Given the description of an element on the screen output the (x, y) to click on. 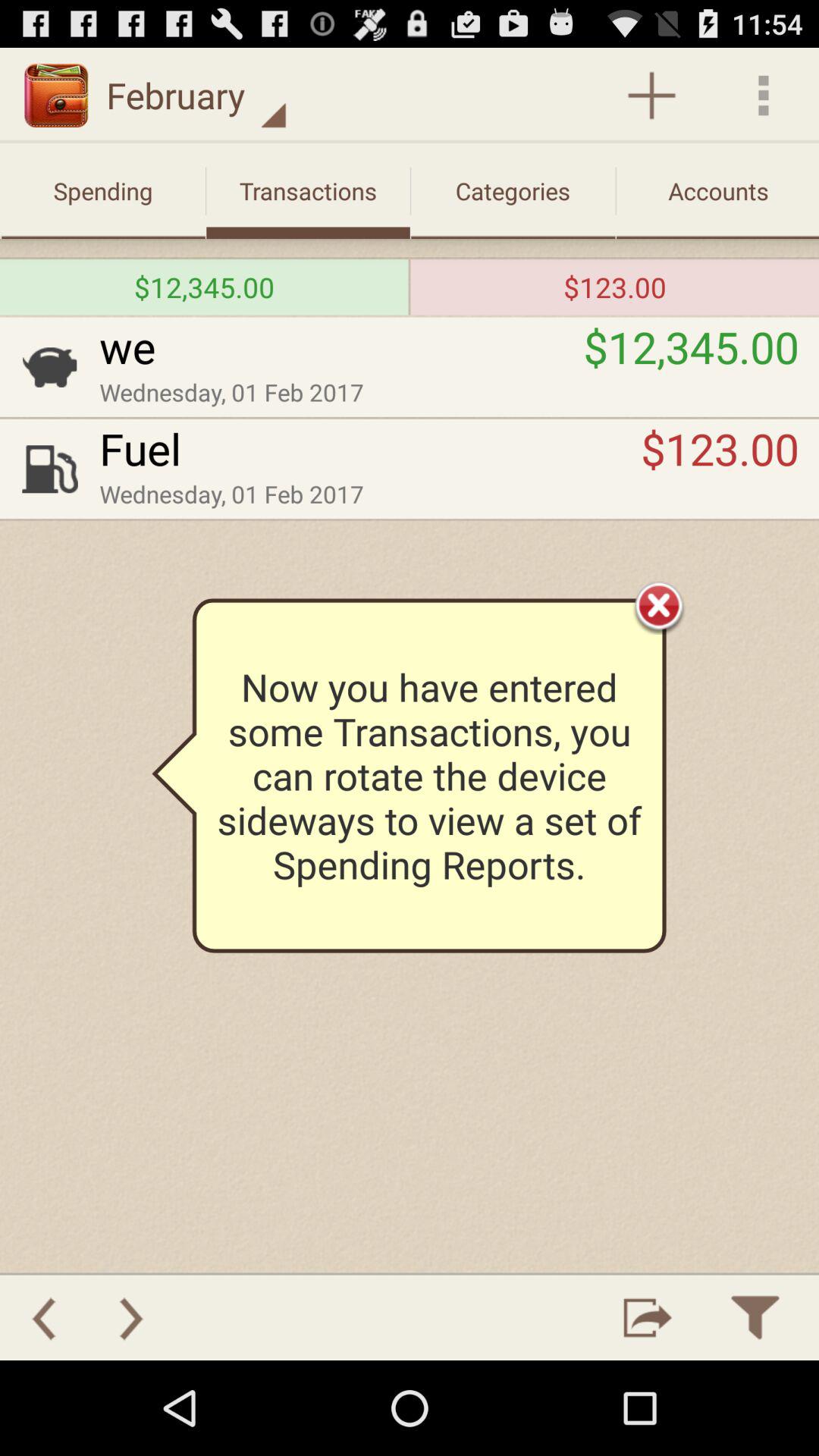
add new transaction (651, 95)
